Given the description of an element on the screen output the (x, y) to click on. 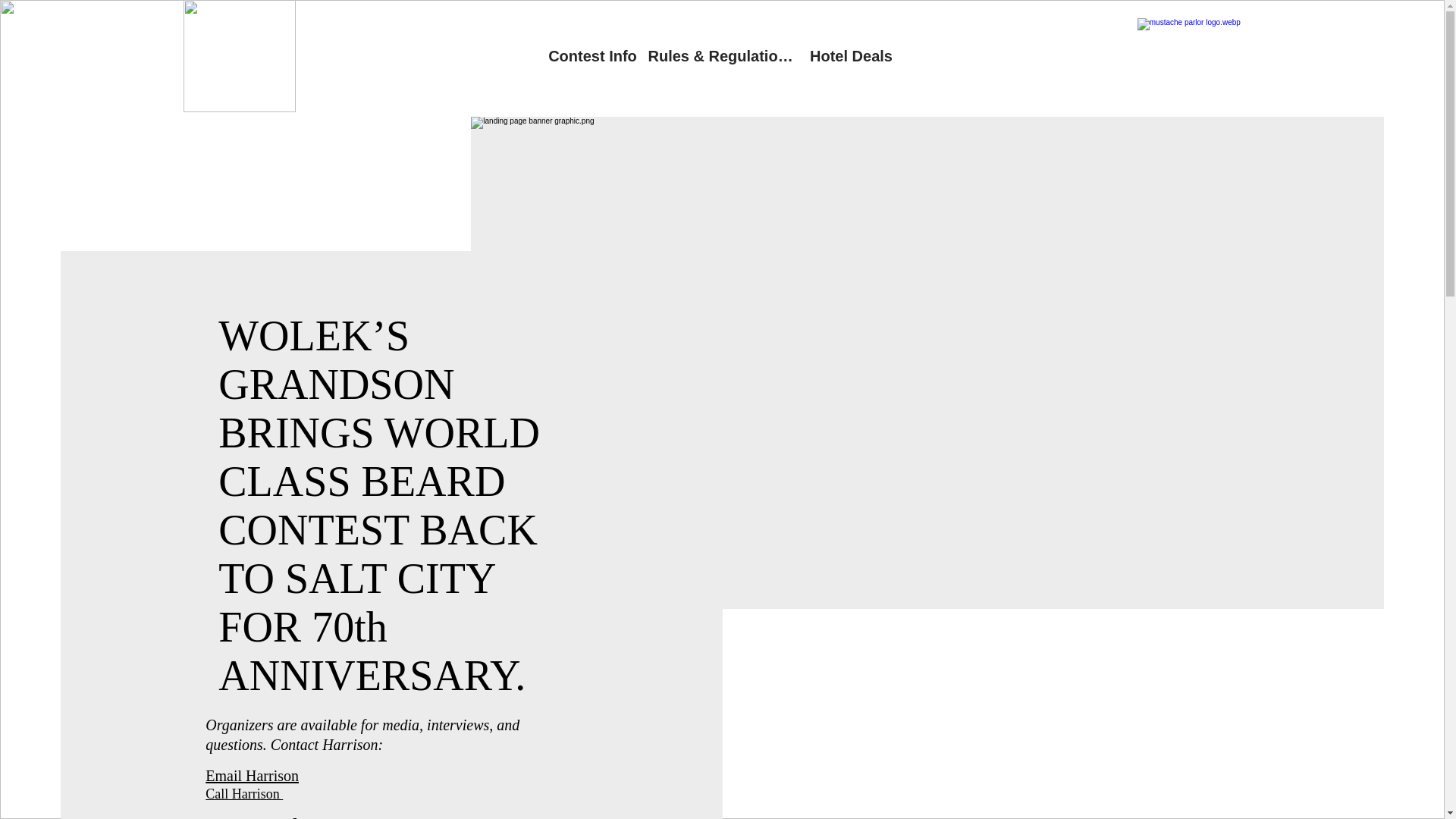
Hotel Deals (850, 55)
Contest Info (593, 55)
